Given the description of an element on the screen output the (x, y) to click on. 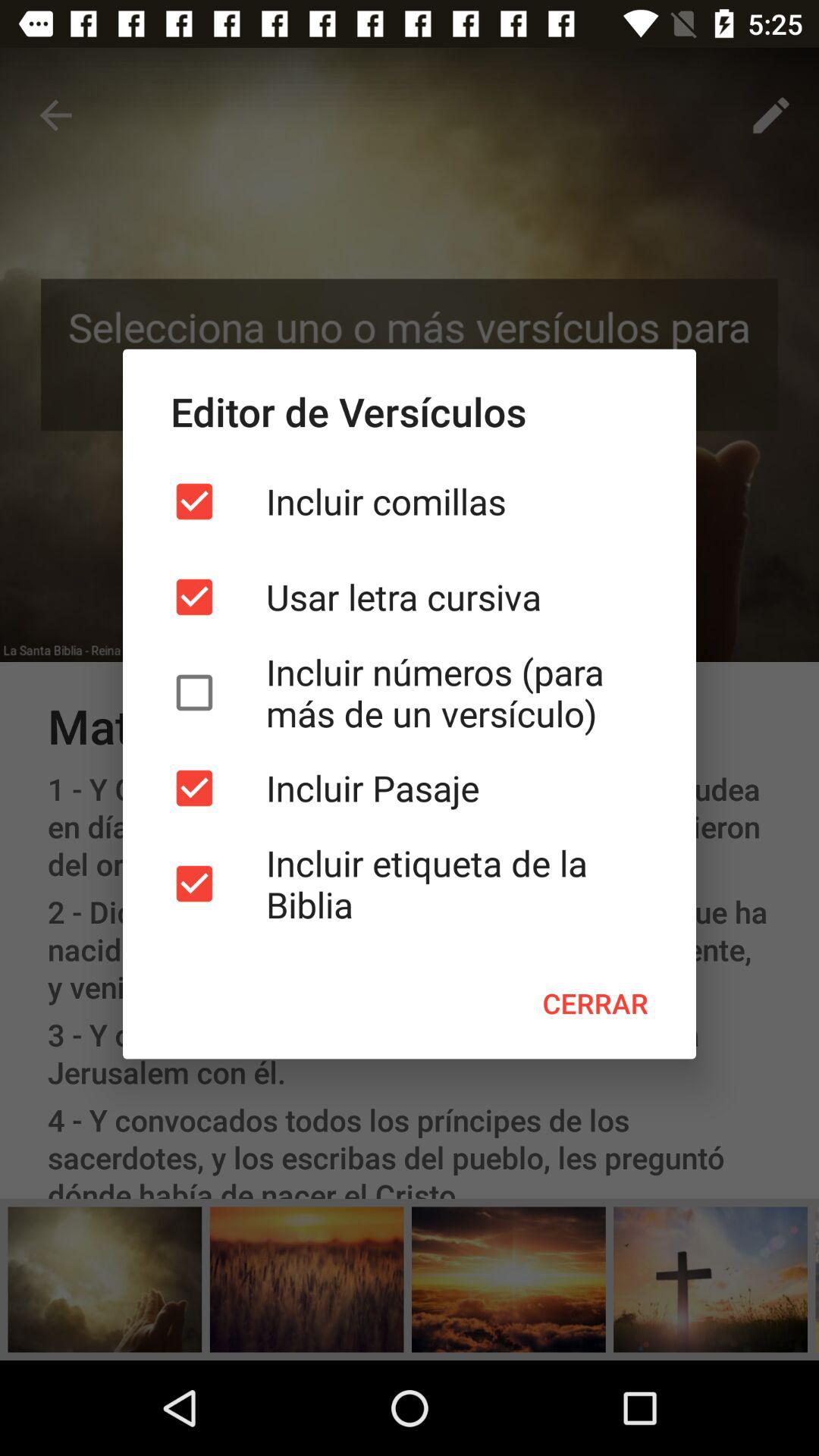
swipe until incluir pasaje item (409, 788)
